Given the description of an element on the screen output the (x, y) to click on. 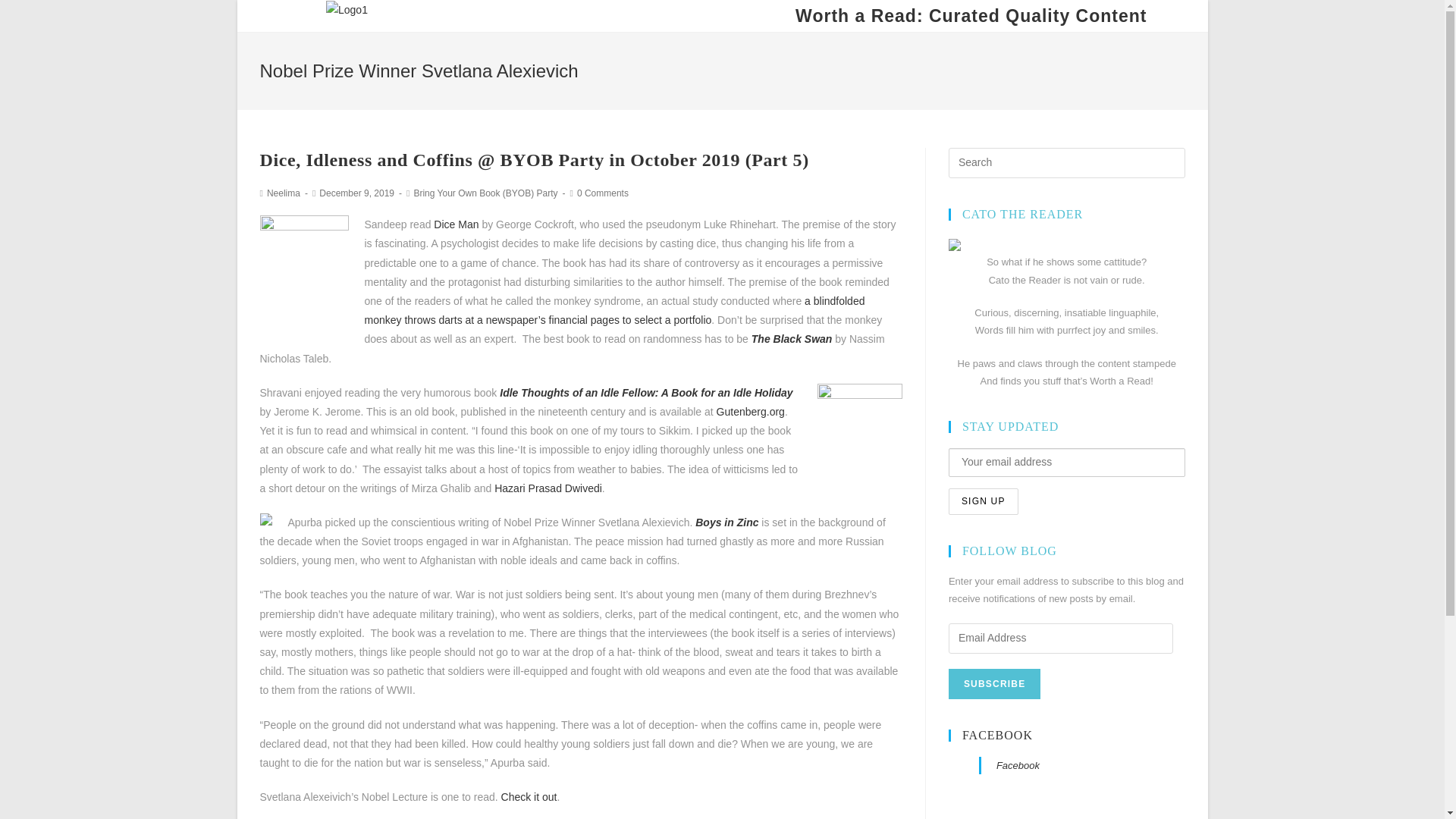
The Black Swan (791, 338)
Boys in Zinc (726, 522)
Sign up (983, 501)
Subscribe (995, 684)
Facebook (1017, 765)
Gutenberg.org (750, 411)
Sign up (983, 501)
Posts by Neelima (282, 193)
0 Comments (602, 193)
Logo1 (347, 9)
